Given the description of an element on the screen output the (x, y) to click on. 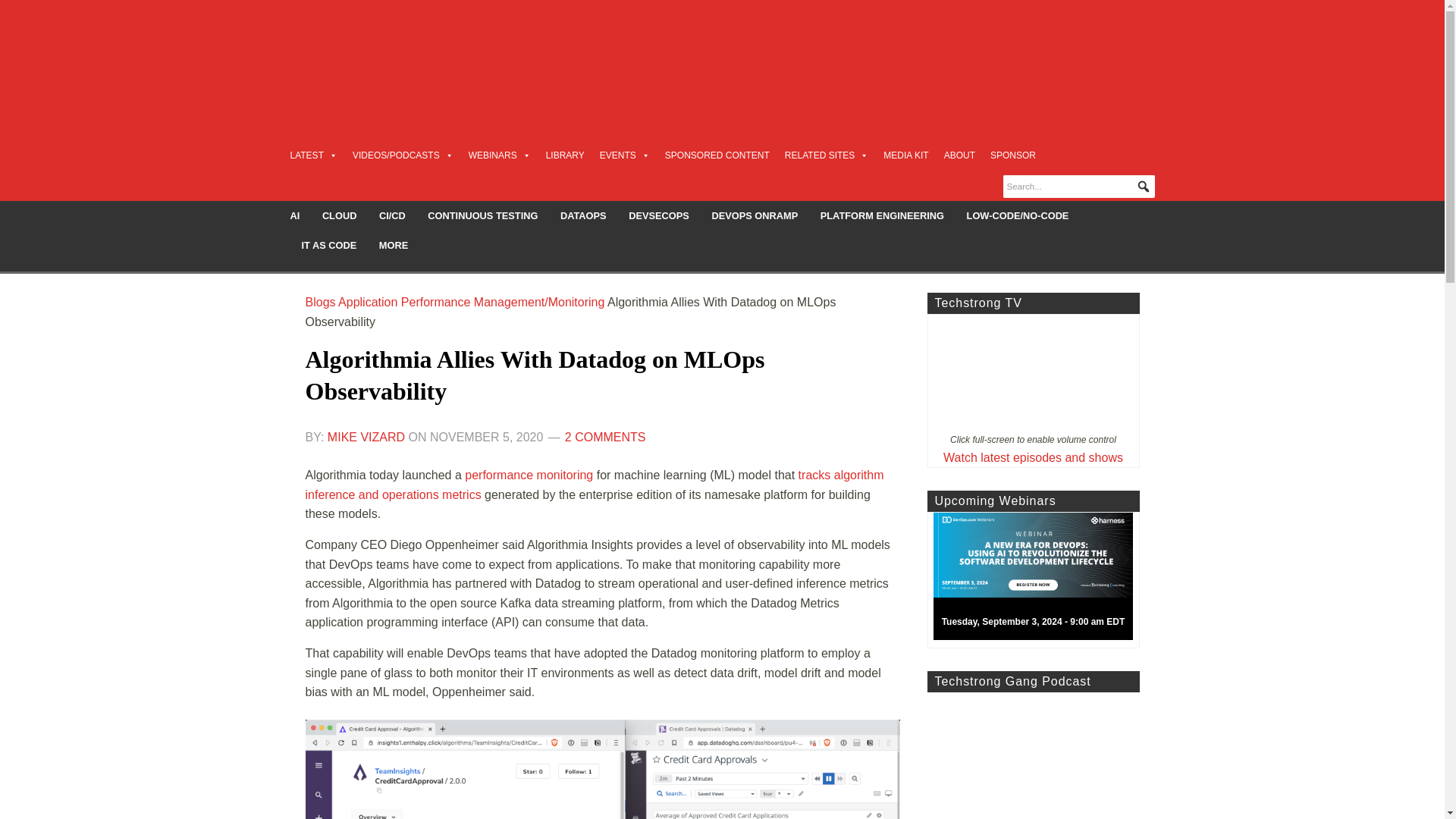
Techstrong Gang (1032, 755)
LIBRARY (565, 155)
LATEST (312, 155)
EVENTS (624, 155)
Tuesday, September 3, 2024 - 9:00 am EDT (1038, 579)
SPONSORED CONTENT (717, 155)
WEBINARS (499, 155)
RELATED SITES (825, 155)
DEVOPS.COM (414, 56)
